Given the description of an element on the screen output the (x, y) to click on. 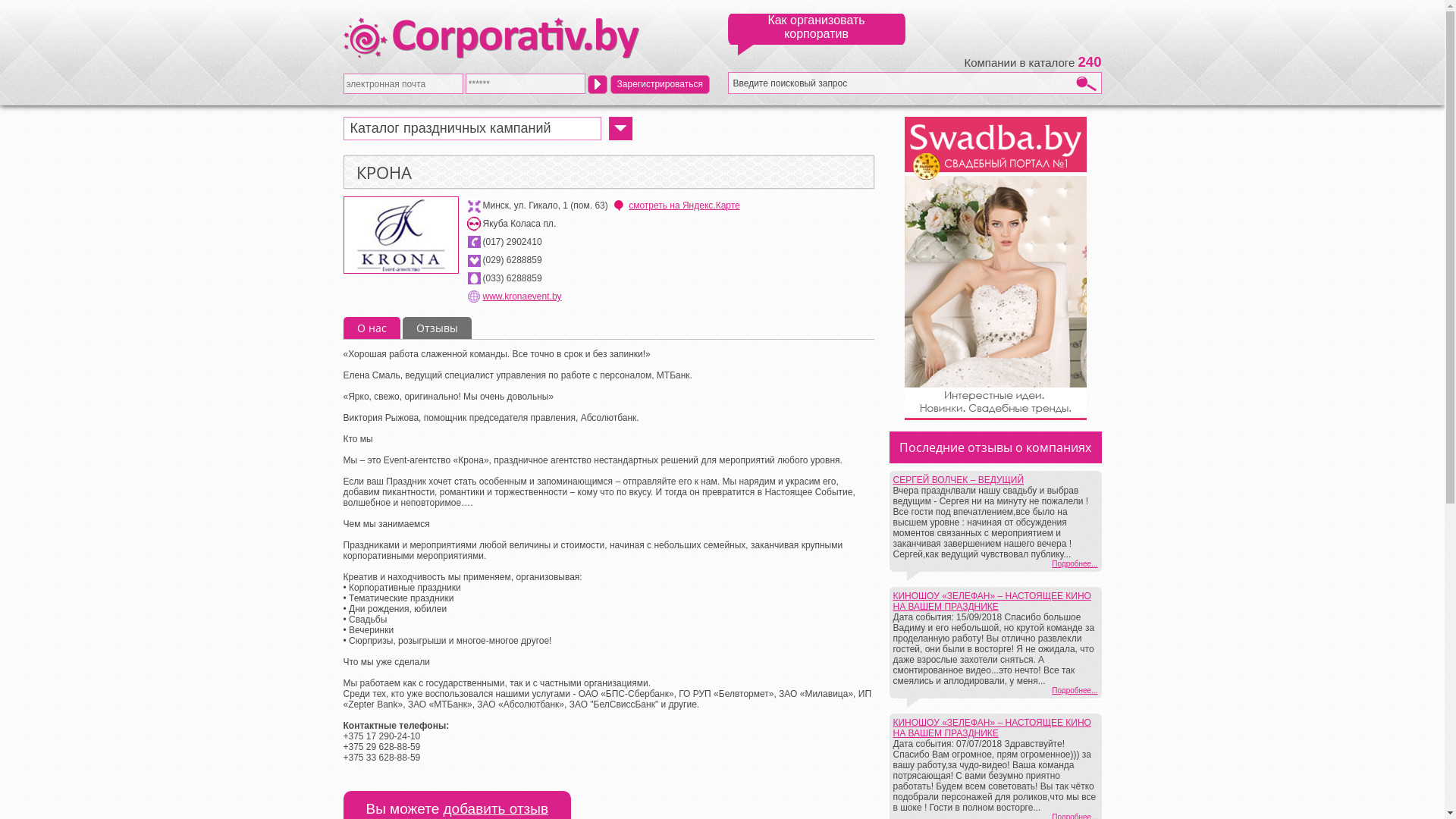
  Element type: text (597, 83)
www.kronaevent.by Element type: text (521, 296)
